Given the description of an element on the screen output the (x, y) to click on. 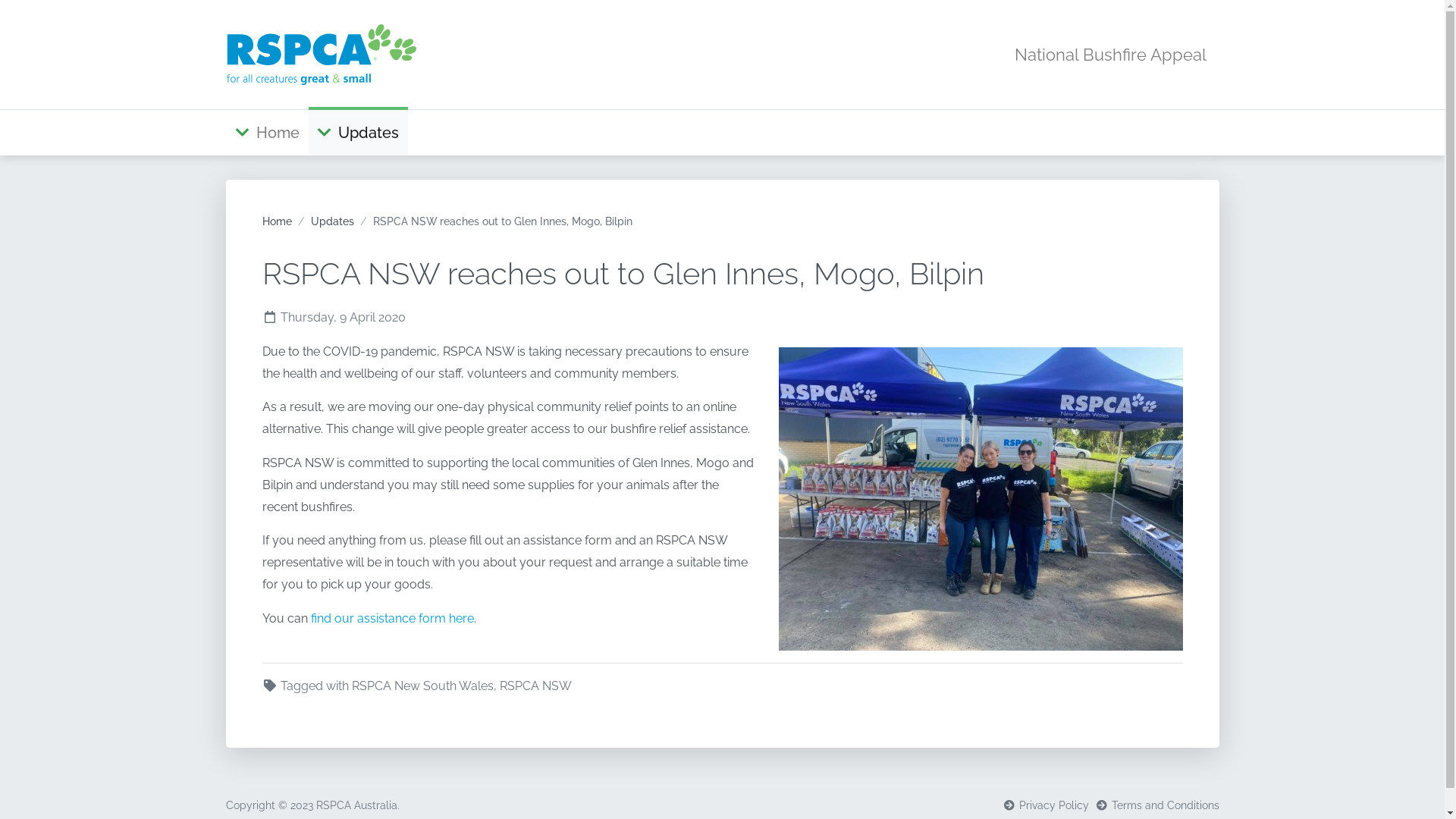
find our assistance form here Element type: text (391, 618)
Home Element type: text (266, 132)
Privacy Policy Element type: text (1045, 805)
Home Element type: text (276, 220)
Updates Element type: text (357, 132)
RSPCA Australia Element type: text (355, 805)
Updates Element type: text (332, 220)
Terms and Conditions Element type: text (1157, 805)
RSPCA National Bushfire Appeal Element type: hover (320, 54)
RSPCA NSW Element type: text (534, 686)
RSPCA New South Wales Element type: text (422, 686)
